Given the description of an element on the screen output the (x, y) to click on. 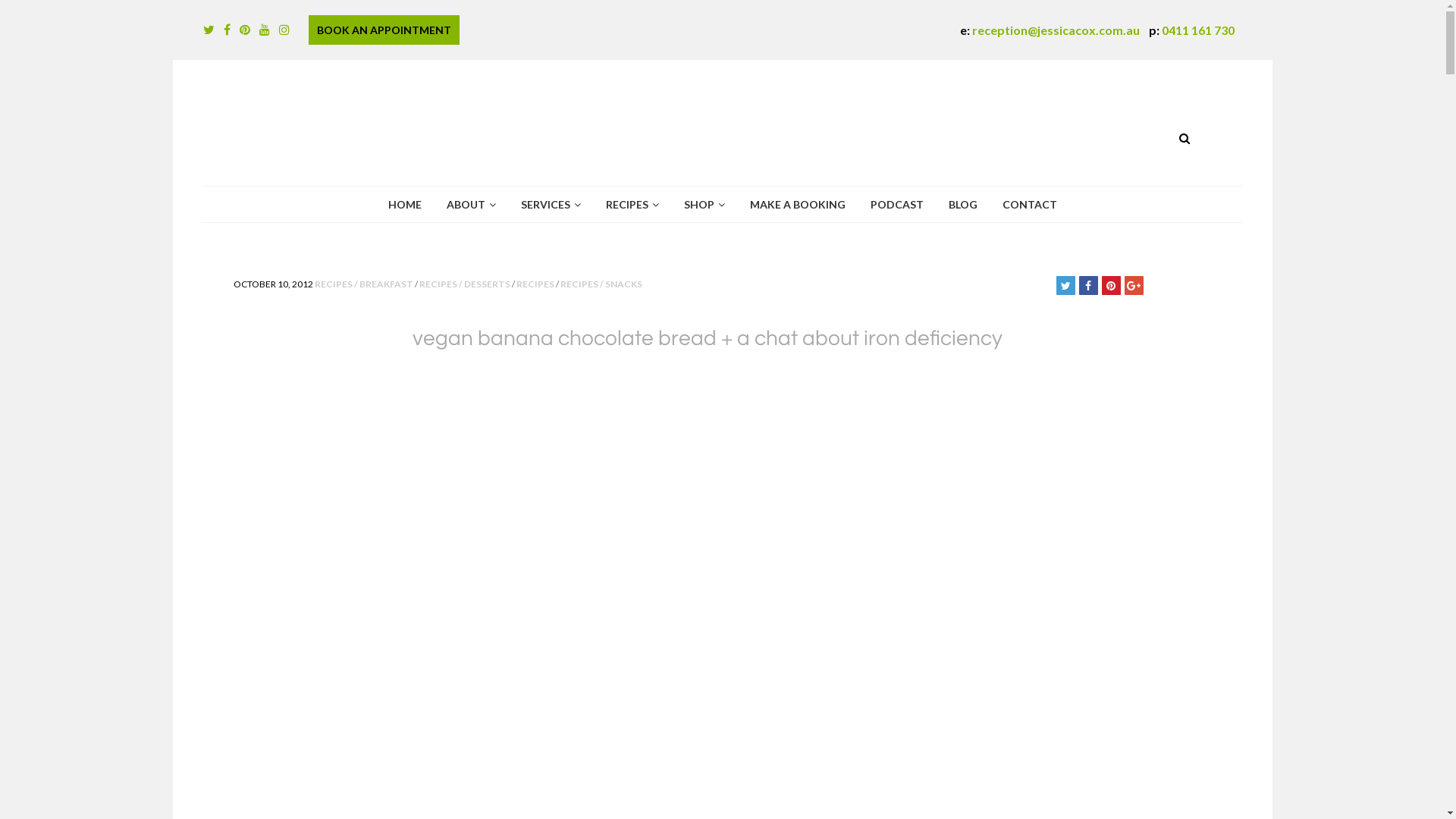
RECIPES / DESSERTS Element type: text (463, 283)
SHOP Element type: text (703, 204)
HOME Element type: text (404, 204)
reception@jessicacox.com.au Element type: text (1055, 29)
PODCAST Element type: text (896, 204)
RECIPES Element type: text (534, 283)
BOOK AN APPOINTMENT Element type: text (383, 29)
0411 161 730 Element type: text (1197, 29)
RECIPES Element type: text (632, 204)
MAKE A BOOKING Element type: text (797, 204)
ABOUT Element type: text (471, 204)
RECIPES / BREAKFAST Element type: text (362, 283)
CONTACT Element type: text (1028, 204)
SERVICES Element type: text (550, 204)
BLOG Element type: text (962, 204)
RECIPES / SNACKS Element type: text (600, 283)
